Given the description of an element on the screen output the (x, y) to click on. 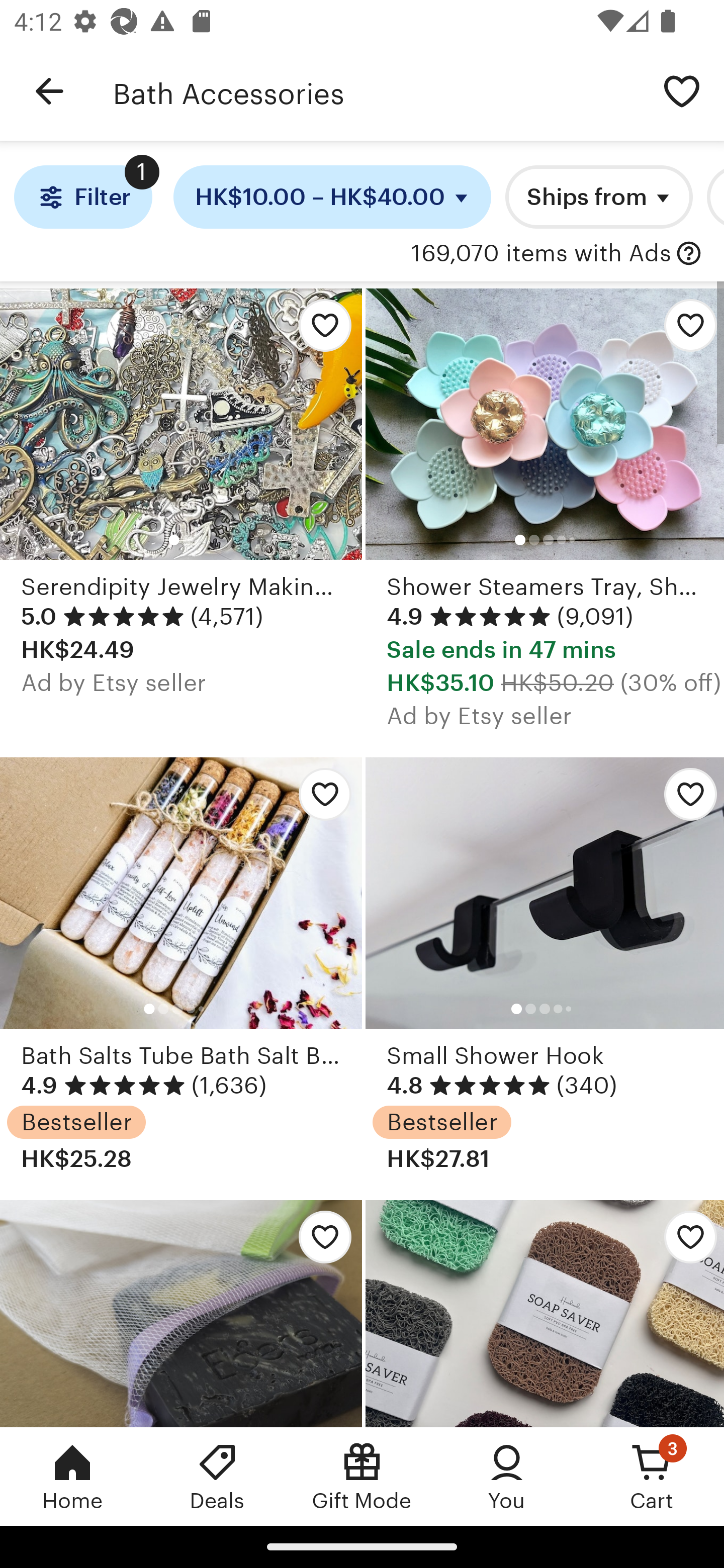
Navigate up (49, 91)
Save search (681, 90)
Bath Accessories (375, 91)
Filter (82, 197)
HK$10.00 – HK$40.00 (331, 197)
Ships from (598, 197)
169,070 items with Ads (541, 253)
with Ads (688, 253)
Add Small Shower Hook to favorites (683, 799)
Add Soap bag to favorites (181, 1312)
Add Soap bag to favorites (319, 1241)
Add Soap Savers to favorites (544, 1312)
Add Soap Savers to favorites (683, 1241)
Deals (216, 1475)
Gift Mode (361, 1475)
You (506, 1475)
Cart, 3 new notifications Cart (651, 1475)
